Given the description of an element on the screen output the (x, y) to click on. 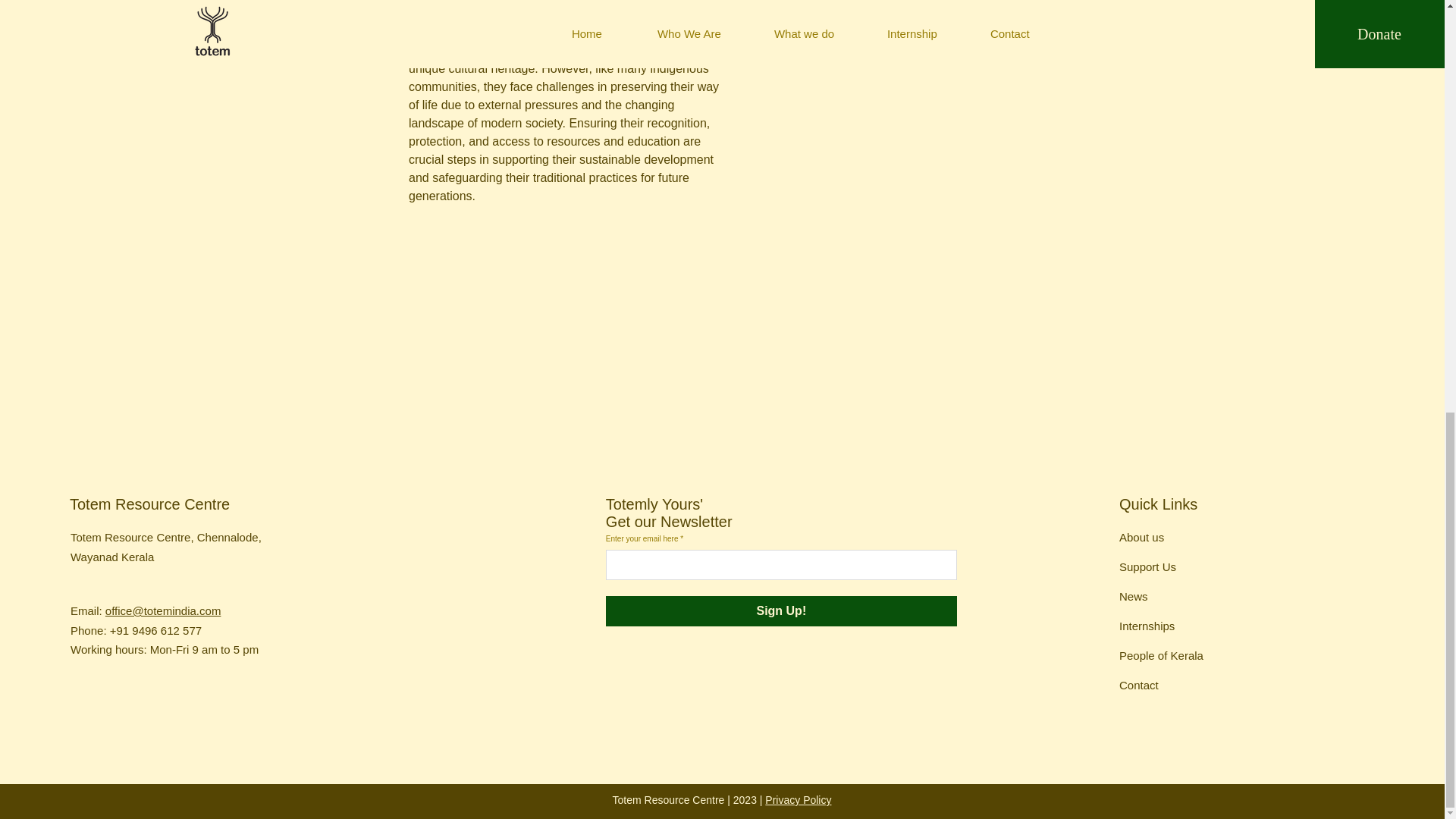
Sign Up! (780, 611)
Internships (1146, 625)
News (1133, 595)
Contact (1138, 684)
Support Us (1147, 566)
People of Kerala (1161, 655)
Privacy Policy (798, 799)
About us (1141, 536)
